Given the description of an element on the screen output the (x, y) to click on. 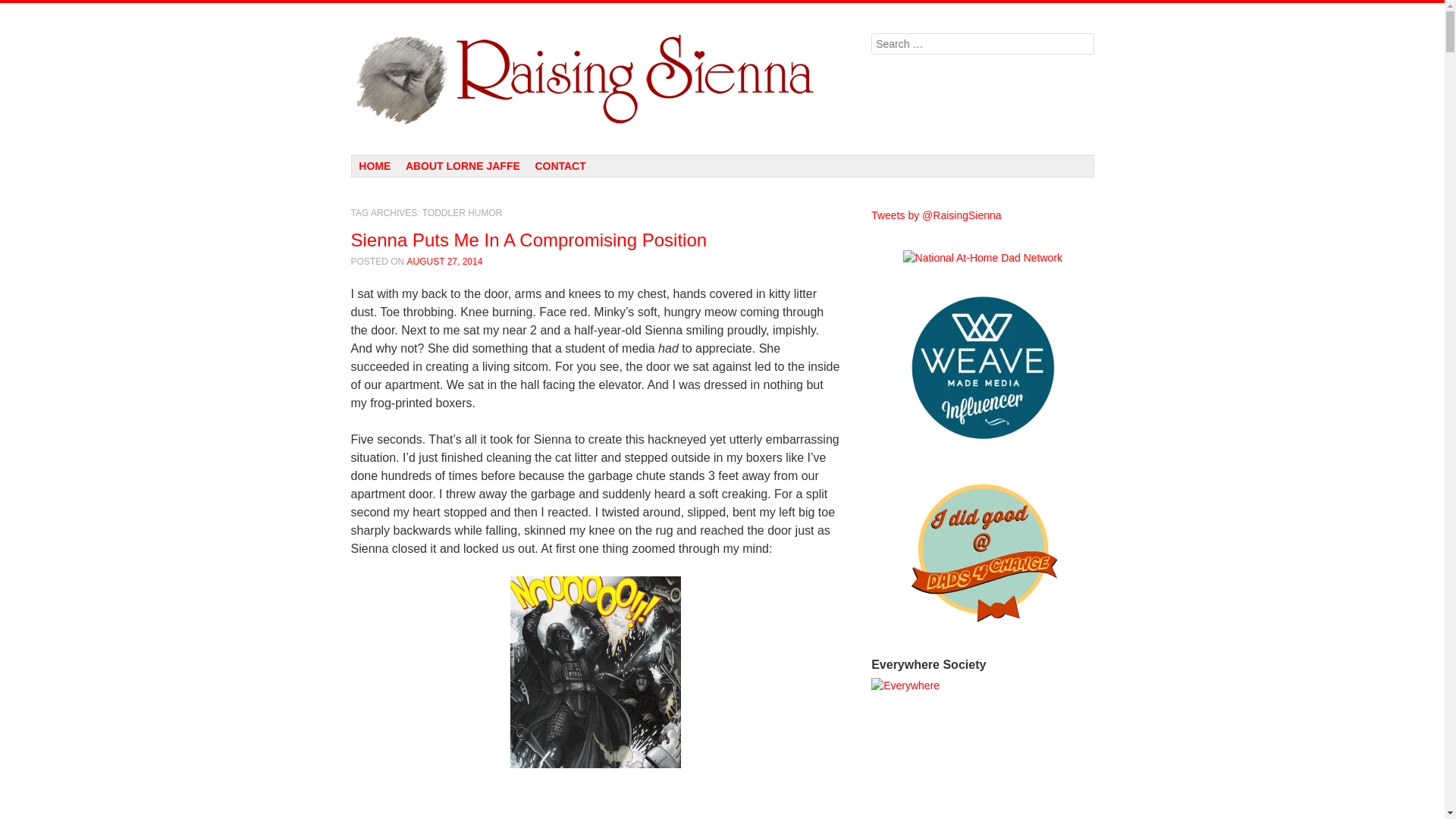
Permalink to Sienna Puts Me In A Compromising Position (528, 240)
2:37 pm (445, 261)
Raising Sienna (595, 78)
CONTACT (560, 165)
Sienna Puts Me In A Compromising Position (528, 240)
Search (22, 9)
ABOUT LORNE JAFFE (462, 165)
SKIP TO CONTENT (405, 165)
HOME (375, 165)
AUGUST 27, 2014 (445, 261)
